Given the description of an element on the screen output the (x, y) to click on. 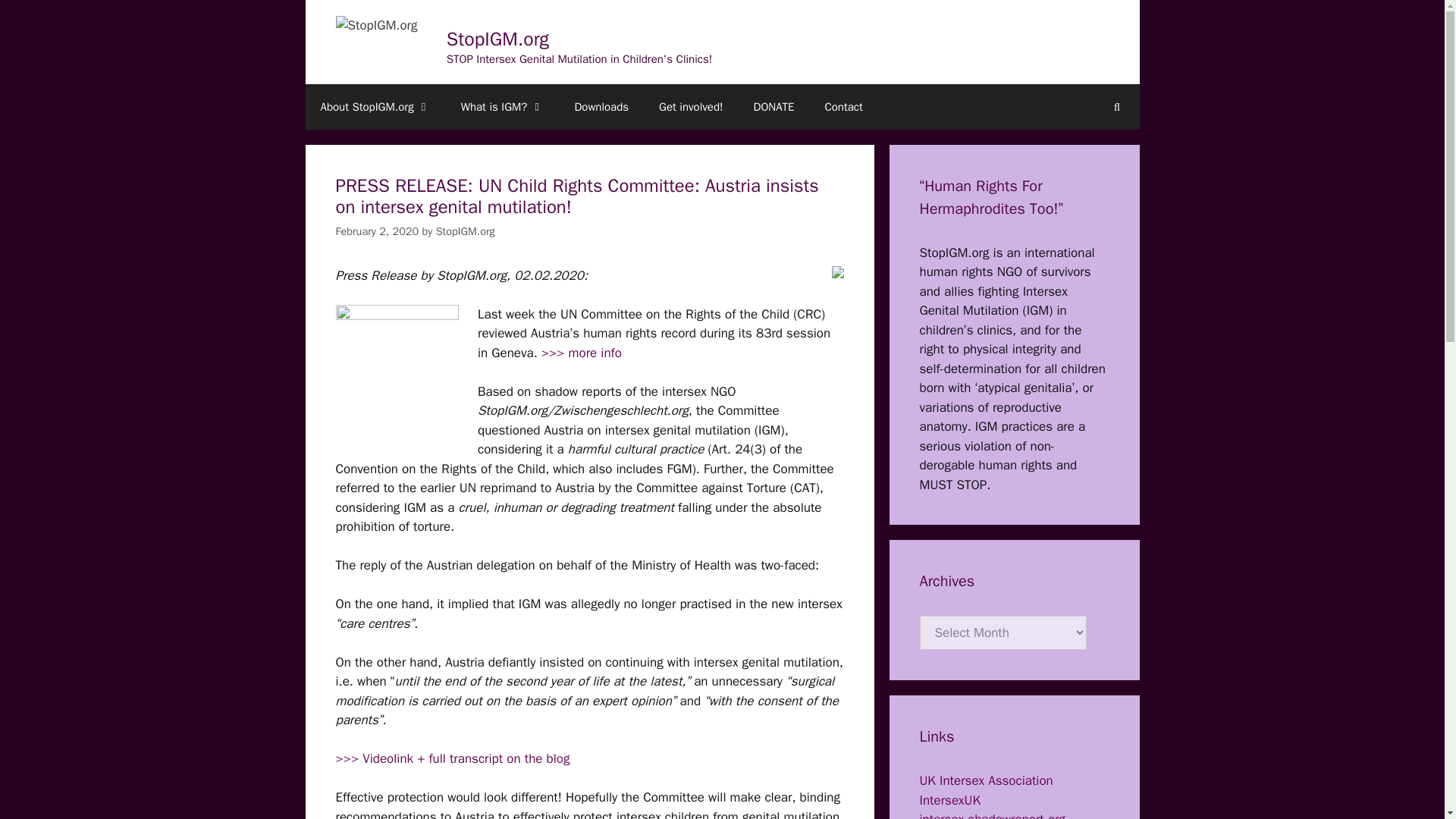
StopIGM.org (497, 38)
StopIGM.org on Facebook (837, 272)
StopIGM.org (465, 231)
What is IGM? (502, 105)
About StopIGM.org (374, 105)
Get involved! (690, 105)
Contact (843, 105)
View all posts by StopIGM.org (465, 231)
DONATE (773, 105)
Downloads (601, 105)
